Given the description of an element on the screen output the (x, y) to click on. 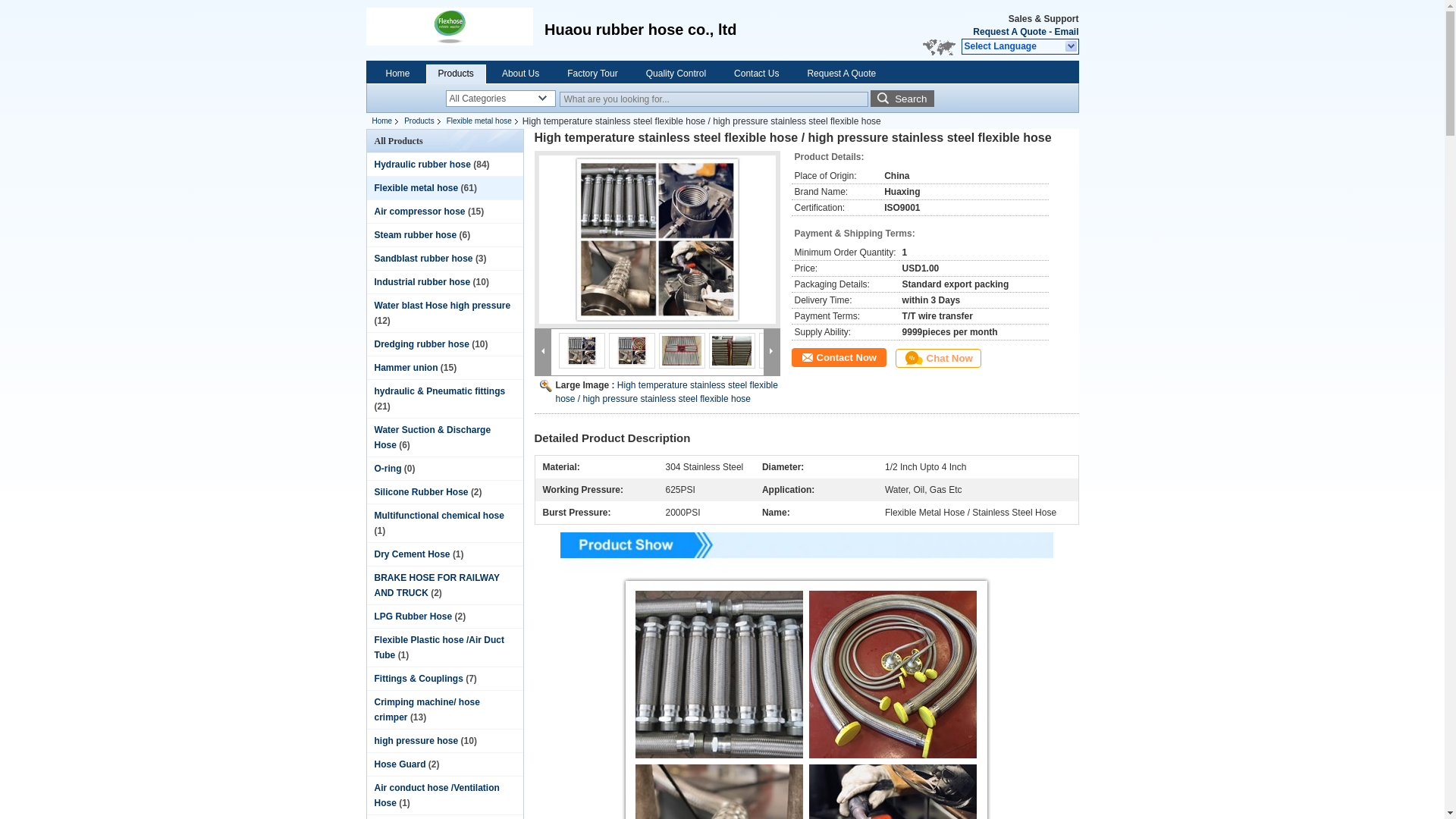
Products (455, 73)
All Categories (499, 98)
Email (1066, 31)
China Hydraulic rubber hose  on sales (422, 163)
Home (398, 73)
Factory Tour (592, 73)
Request A Quote (1008, 31)
Huaou rubber hose co., ltd (1070, 47)
China Air compressor hose  on sales (419, 211)
China Hydraulic rubber hose manufacturer (448, 30)
Request A Quote (840, 73)
Huaou rubber hose co., ltd (1008, 31)
China Industrial rubber hose  on sales (422, 281)
China Steam rubber hose  on sales (415, 235)
Contact Us (756, 73)
